Given the description of an element on the screen output the (x, y) to click on. 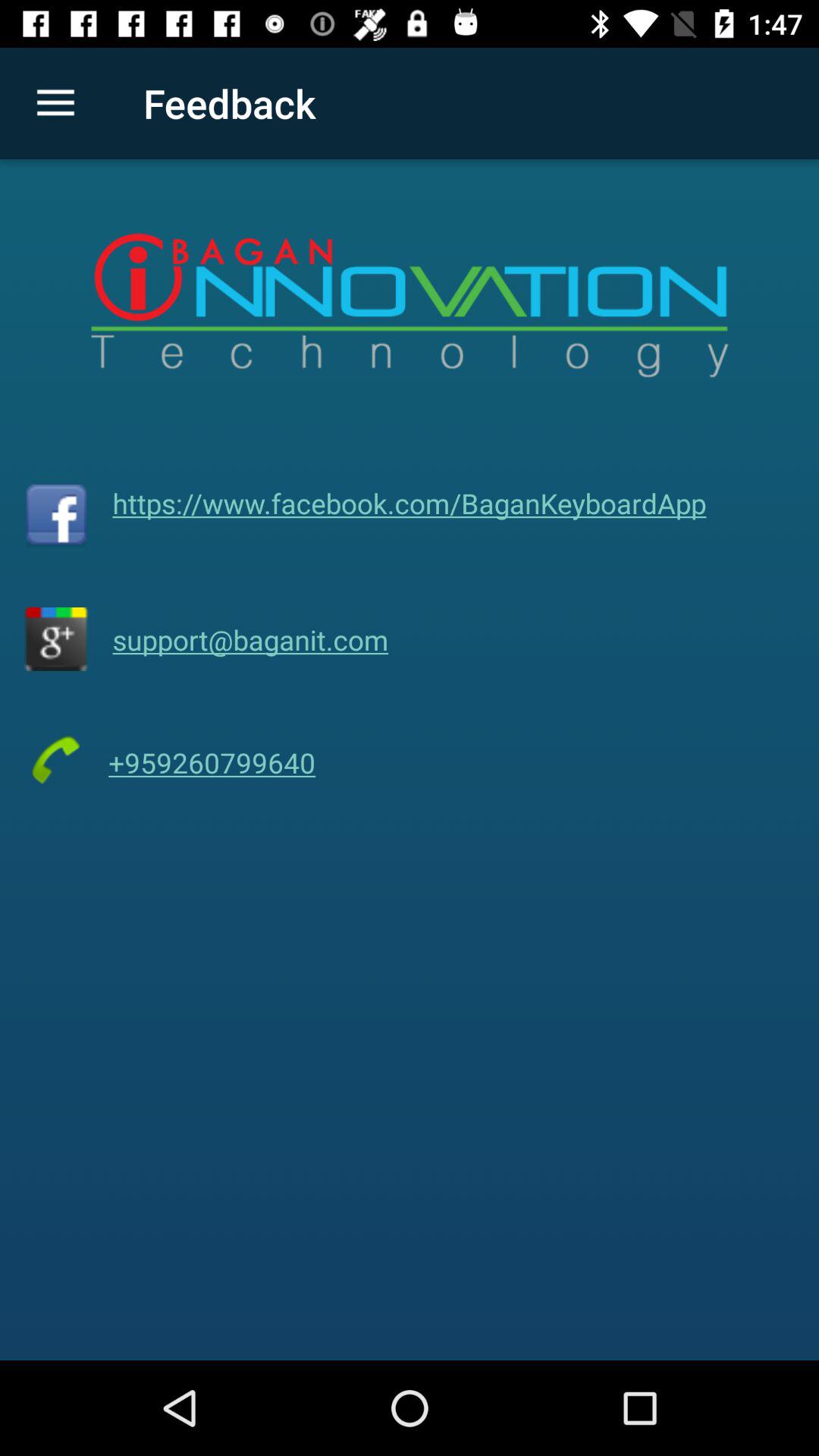
choose the +959260799640 (211, 762)
